Given the description of an element on the screen output the (x, y) to click on. 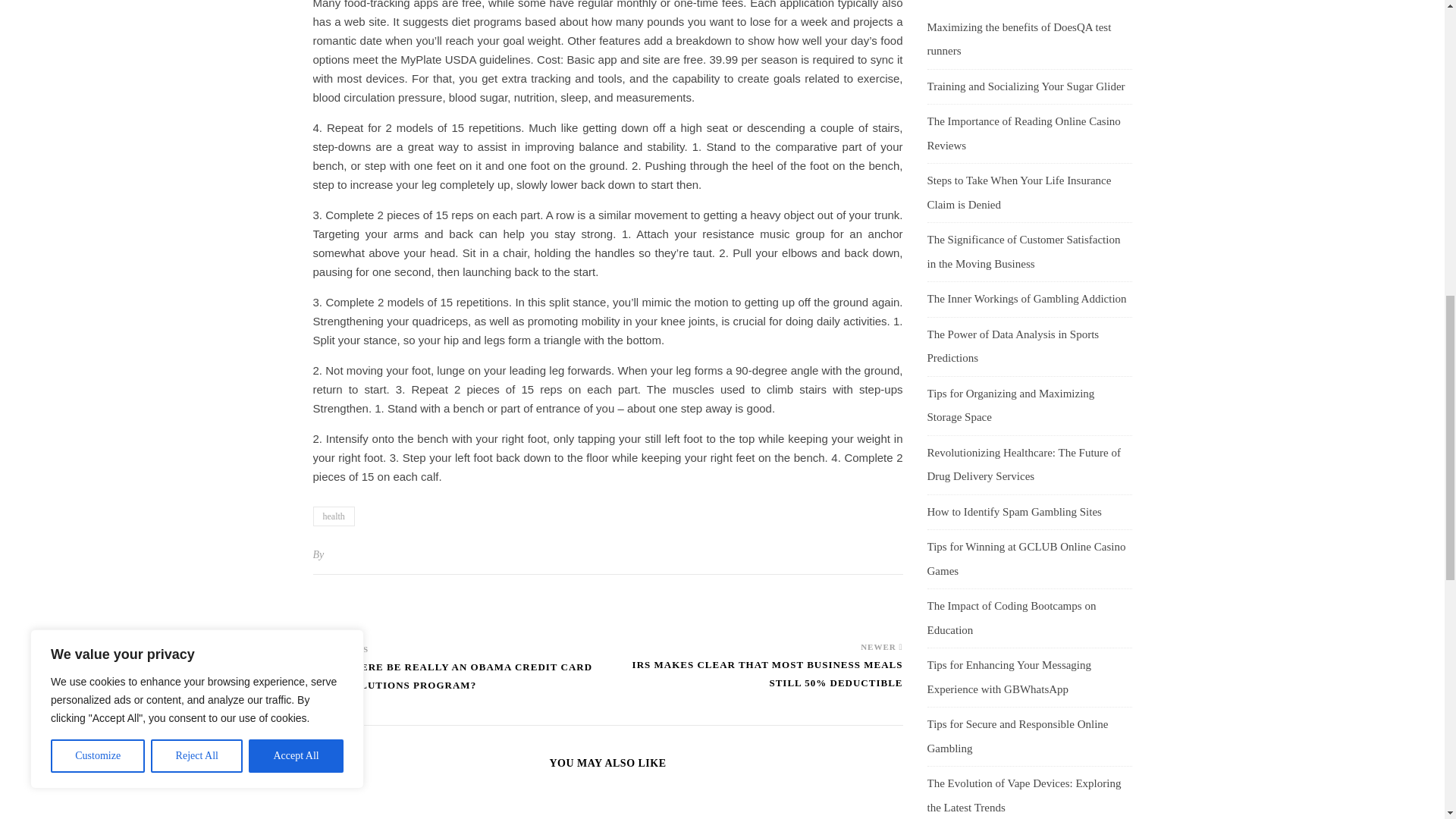
health (333, 516)
